Given the description of an element on the screen output the (x, y) to click on. 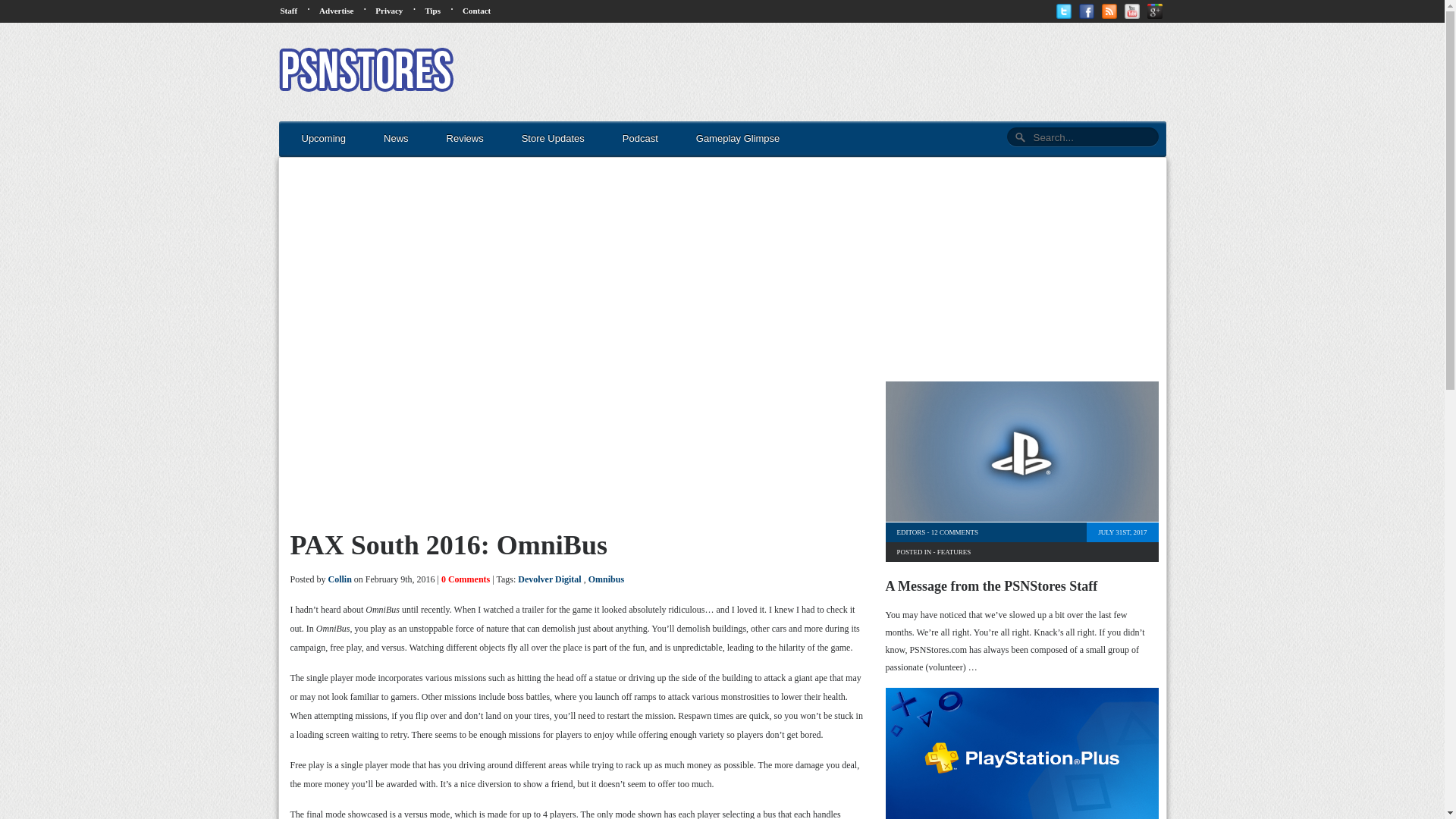
Posts by Editors (910, 532)
Privacy (389, 10)
Staff (289, 10)
Posts by Collin (340, 579)
Advertisement (1017, 263)
Advertise (335, 10)
News (395, 138)
Upcoming (323, 138)
Advertisement (890, 71)
Tips (433, 10)
Contact (476, 10)
